Given the description of an element on the screen output the (x, y) to click on. 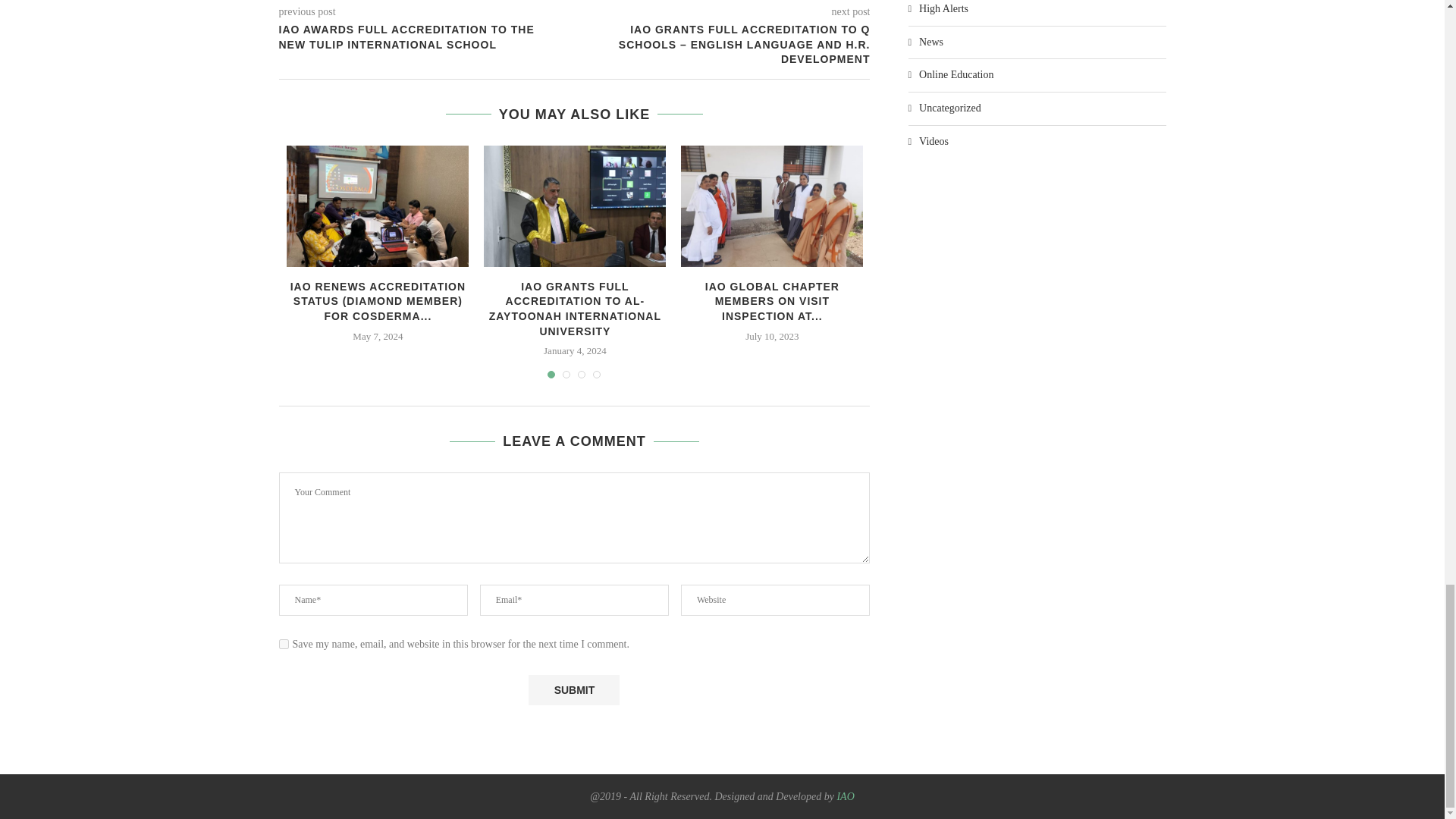
yes (283, 644)
Submit (574, 689)
